Given the description of an element on the screen output the (x, y) to click on. 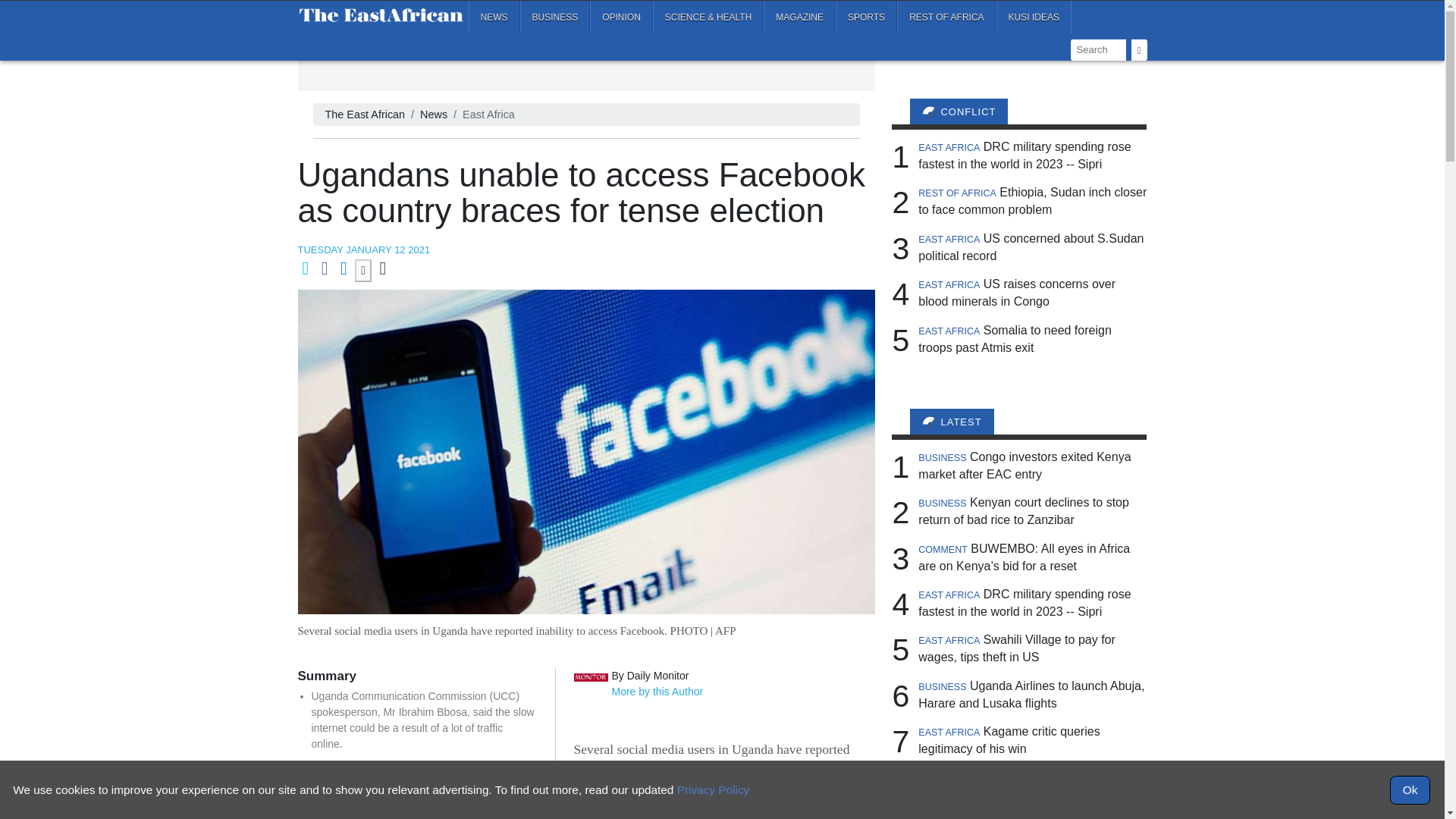
OPINION (620, 16)
MAGAZINE (798, 16)
BUSINESS (555, 16)
SPORTS (865, 16)
Ok (1409, 789)
Privacy Policy (713, 789)
Privacy Policy (713, 789)
NEWS (493, 16)
